Given the description of an element on the screen output the (x, y) to click on. 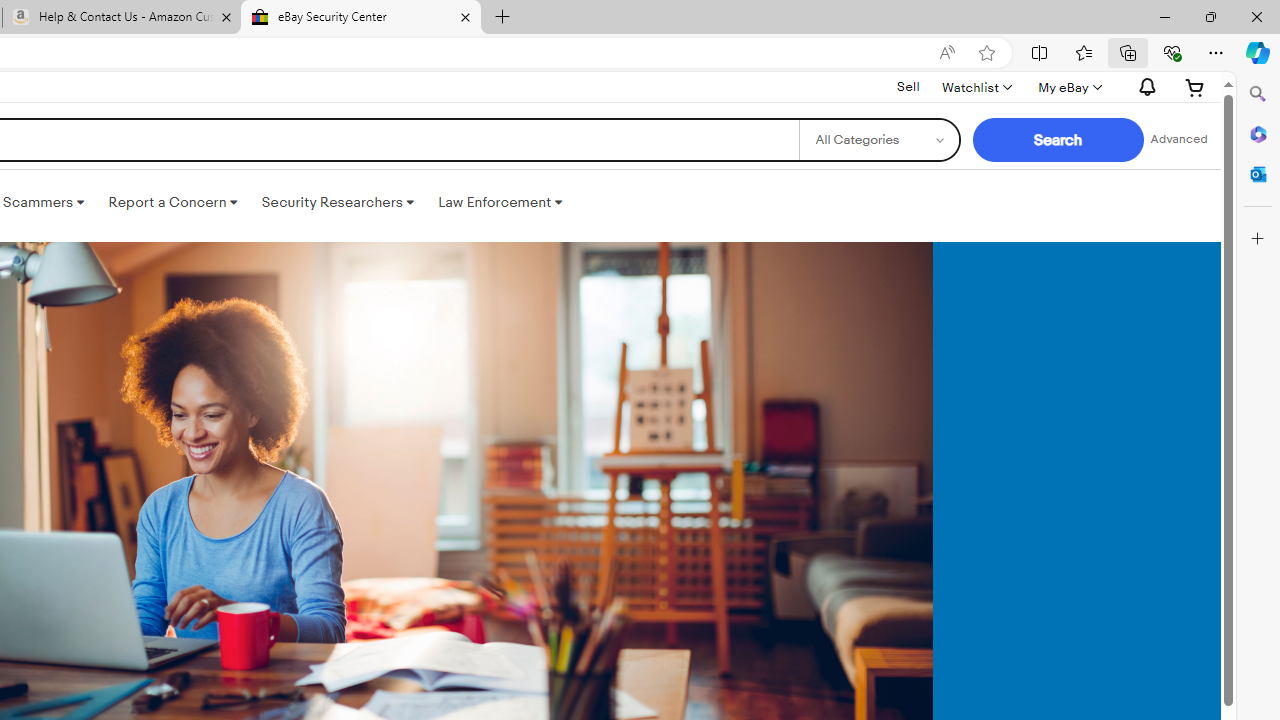
Select a category for search (877, 139)
Your shopping cart (1195, 87)
My eBayExpand My eBay (1068, 87)
Sell (907, 86)
Sell (908, 87)
Security Researchers  (337, 202)
